Given the description of an element on the screen output the (x, y) to click on. 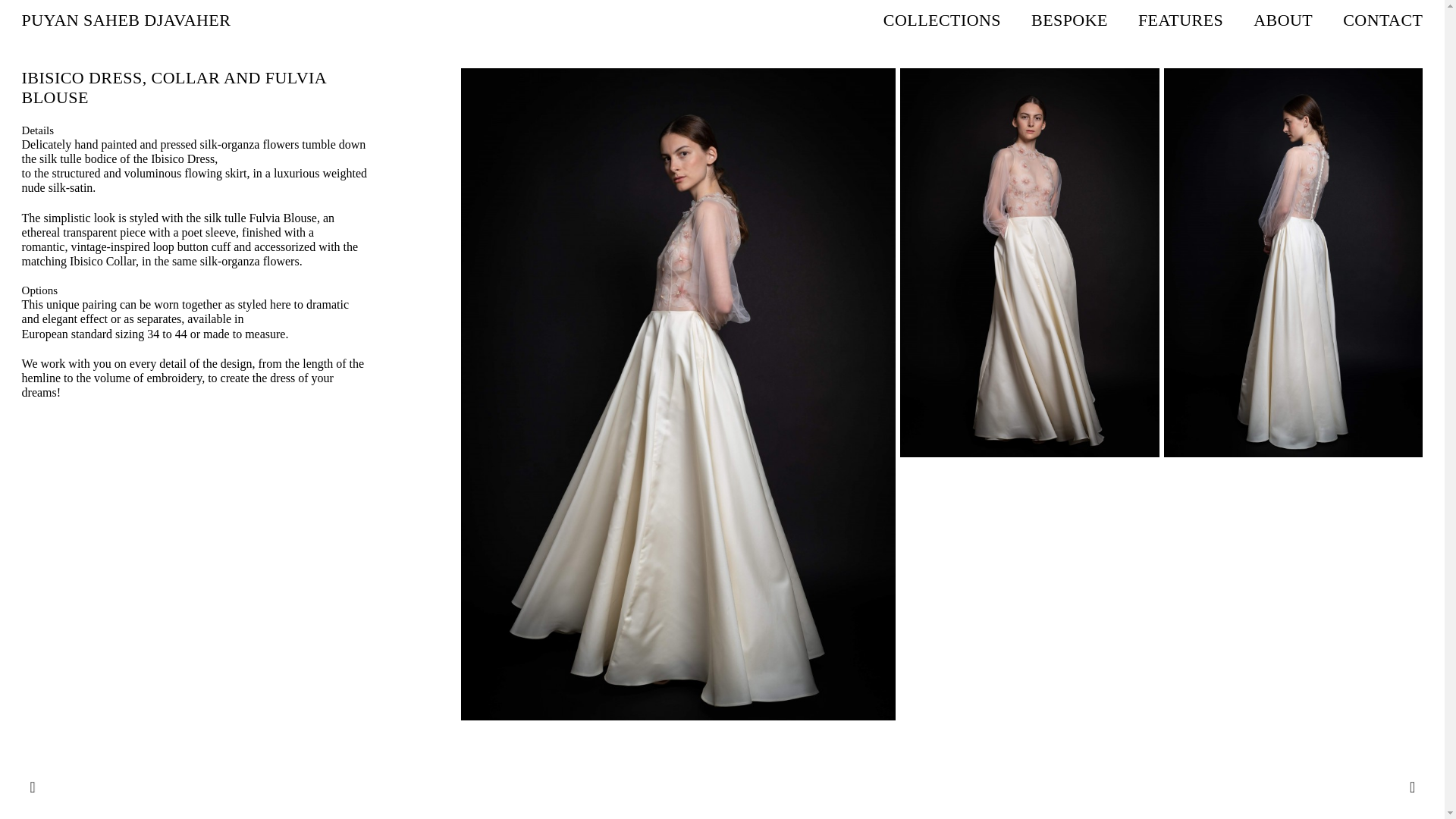
COLLECTIONS (942, 19)
PUYAN SAHEB DJAVAHER (126, 20)
CONTACT (1382, 19)
FEATURES (1180, 19)
ABOUT (1283, 19)
BESPOKE (1069, 19)
